Given the description of an element on the screen output the (x, y) to click on. 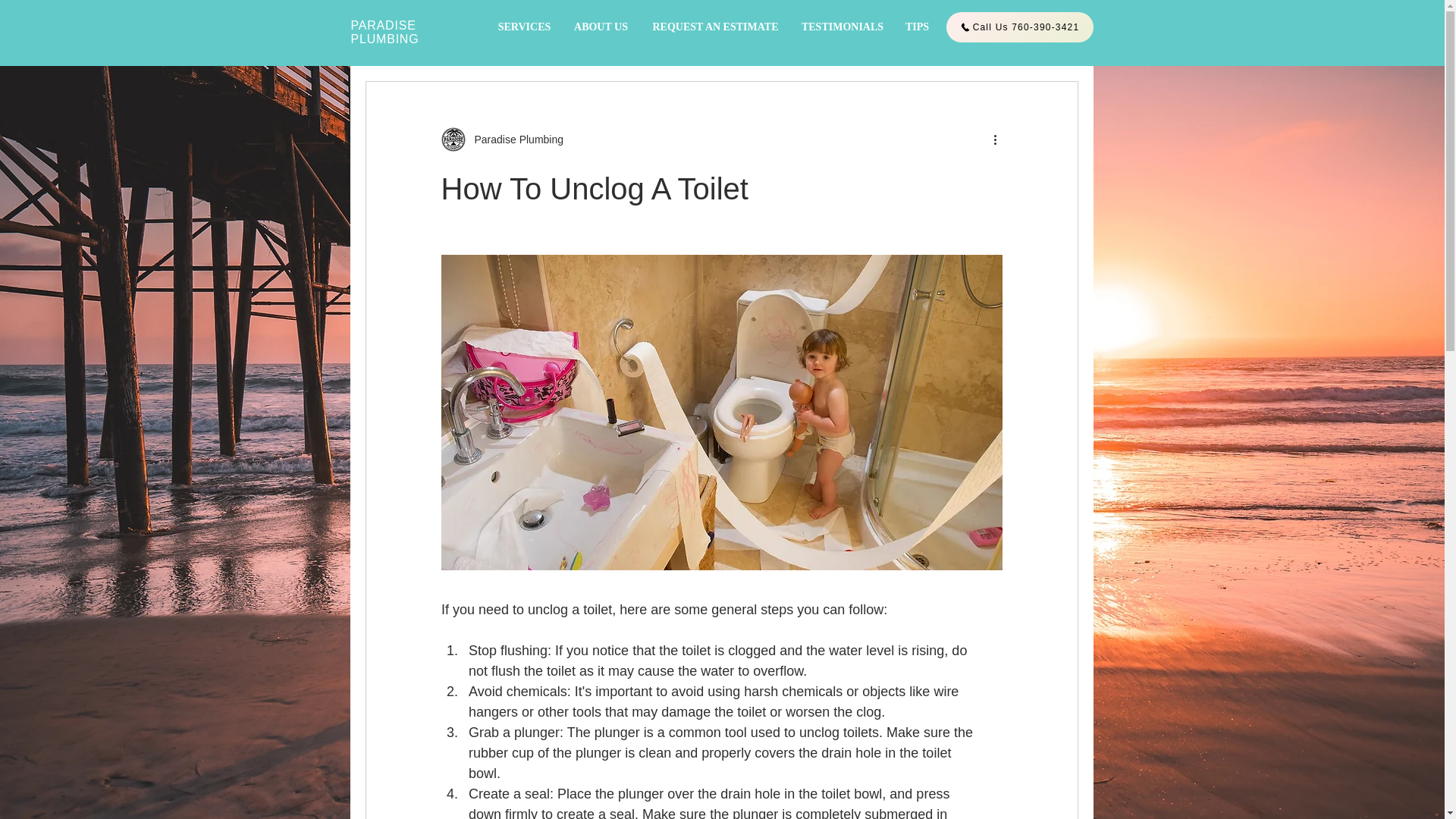
Paradise Plumbing (514, 139)
SERVICES (523, 27)
REQUEST AN ESTIMATE (715, 27)
Call Us 760-390-3421 (1019, 27)
PARADISE PLUMBING (384, 31)
ABOUT US (600, 27)
TESTIMONIALS (841, 27)
TIPS (917, 27)
